Given the description of an element on the screen output the (x, y) to click on. 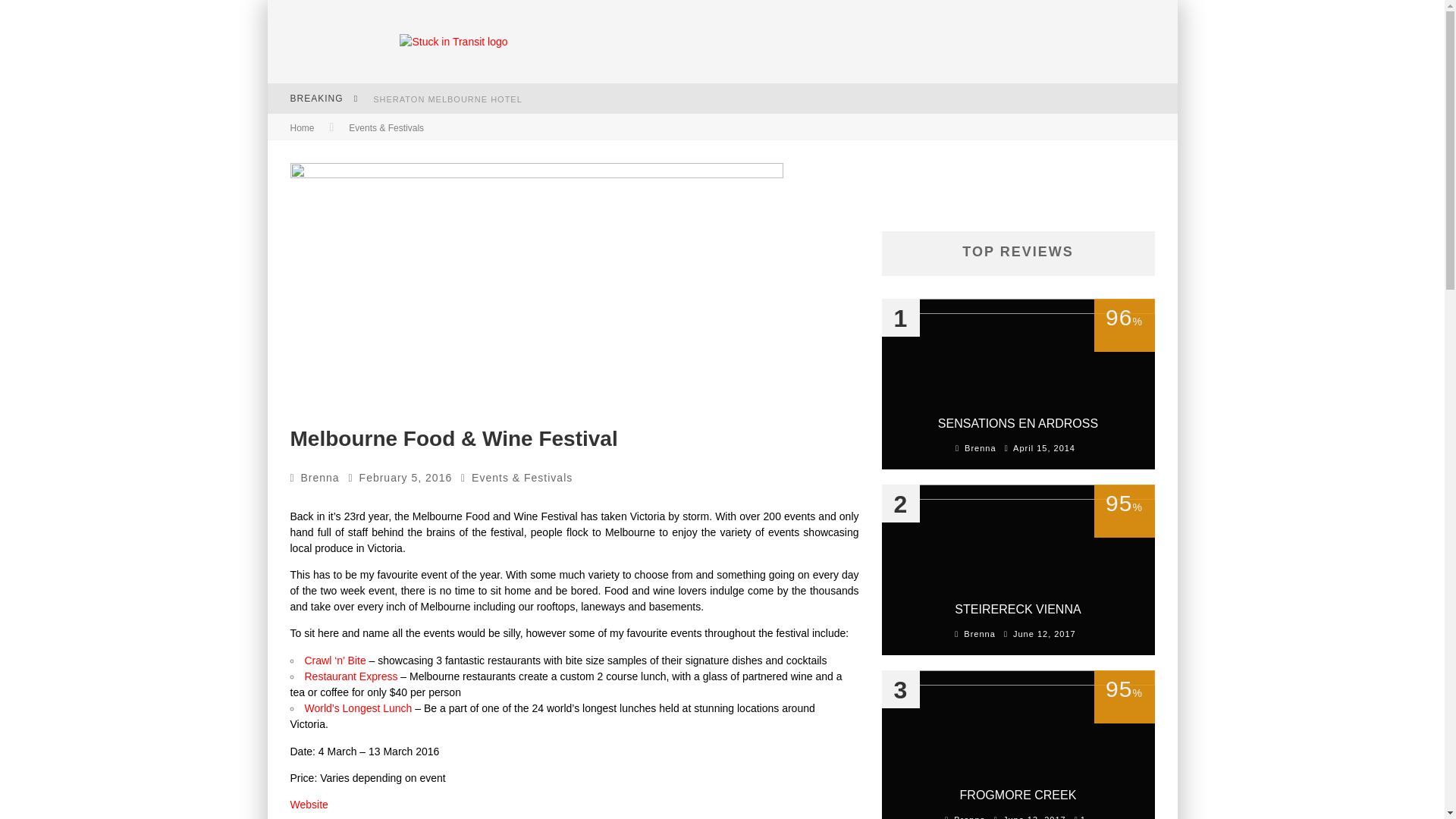
Sheraton Melbourne Hotel (447, 99)
Log In (721, 470)
Restaurant Express (352, 676)
Home (301, 127)
Brenna (320, 477)
SHERATON MELBOURNE HOTEL (447, 99)
Website (308, 804)
